Given the description of an element on the screen output the (x, y) to click on. 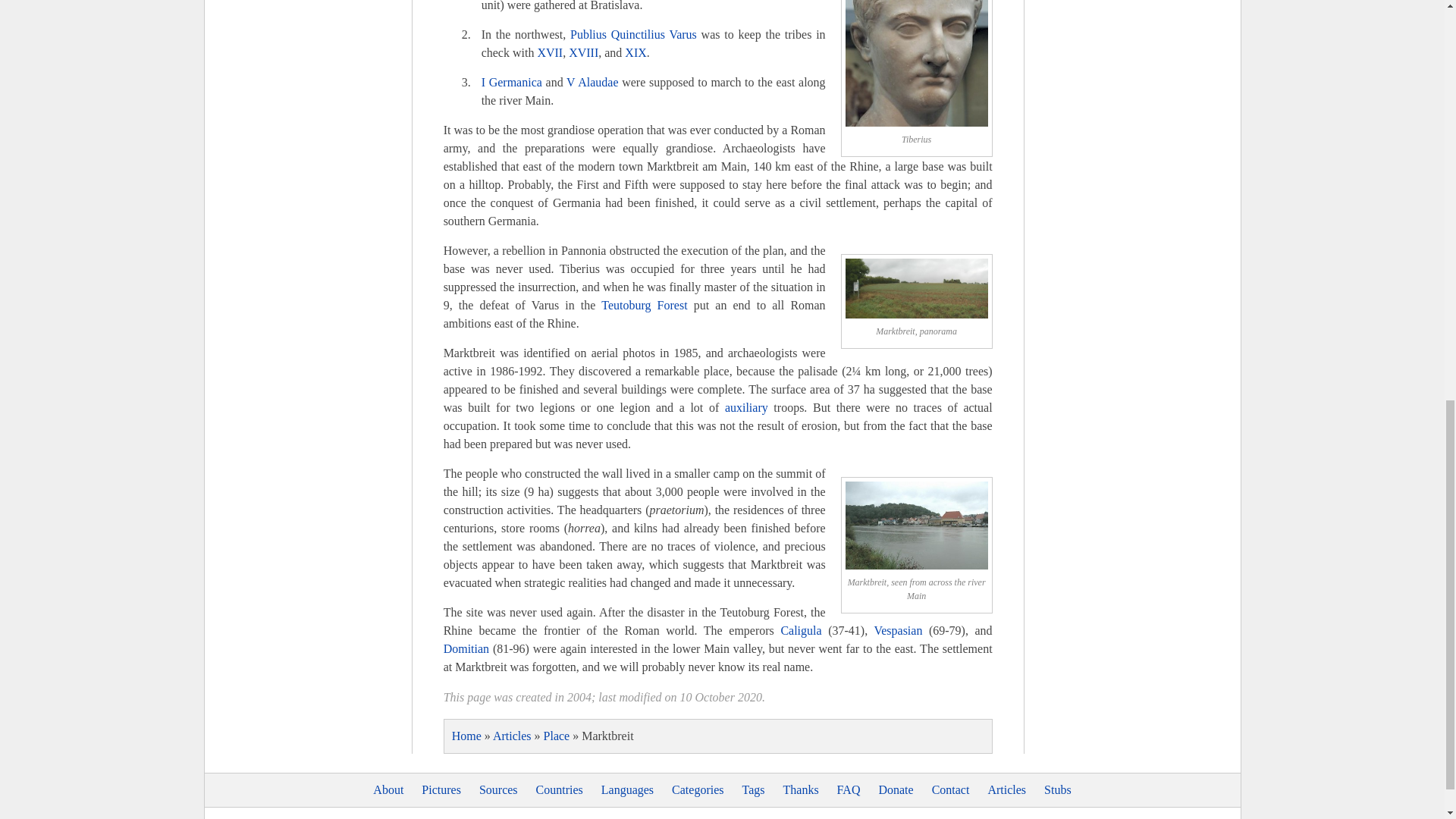
I Germanica (511, 82)
Home (466, 735)
Caligula (800, 630)
Vespasian (897, 630)
XVII (549, 51)
Publius Quinctilius Varus (633, 33)
V Alaudae (591, 82)
XIX (635, 51)
Place (556, 735)
Teutoburg Forest (644, 305)
